Given the description of an element on the screen output the (x, y) to click on. 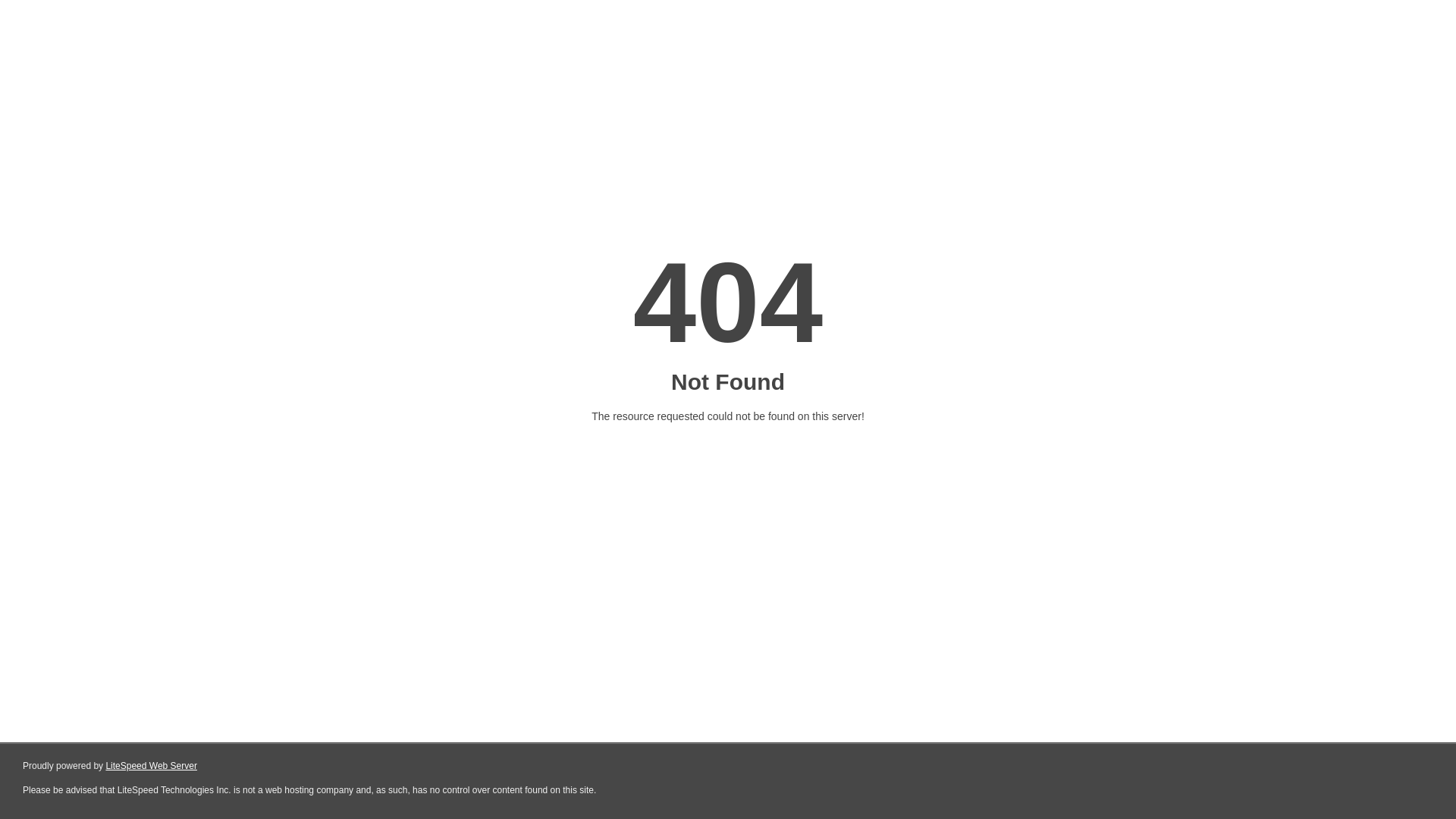
LiteSpeed Web Server Element type: text (151, 765)
